Given the description of an element on the screen output the (x, y) to click on. 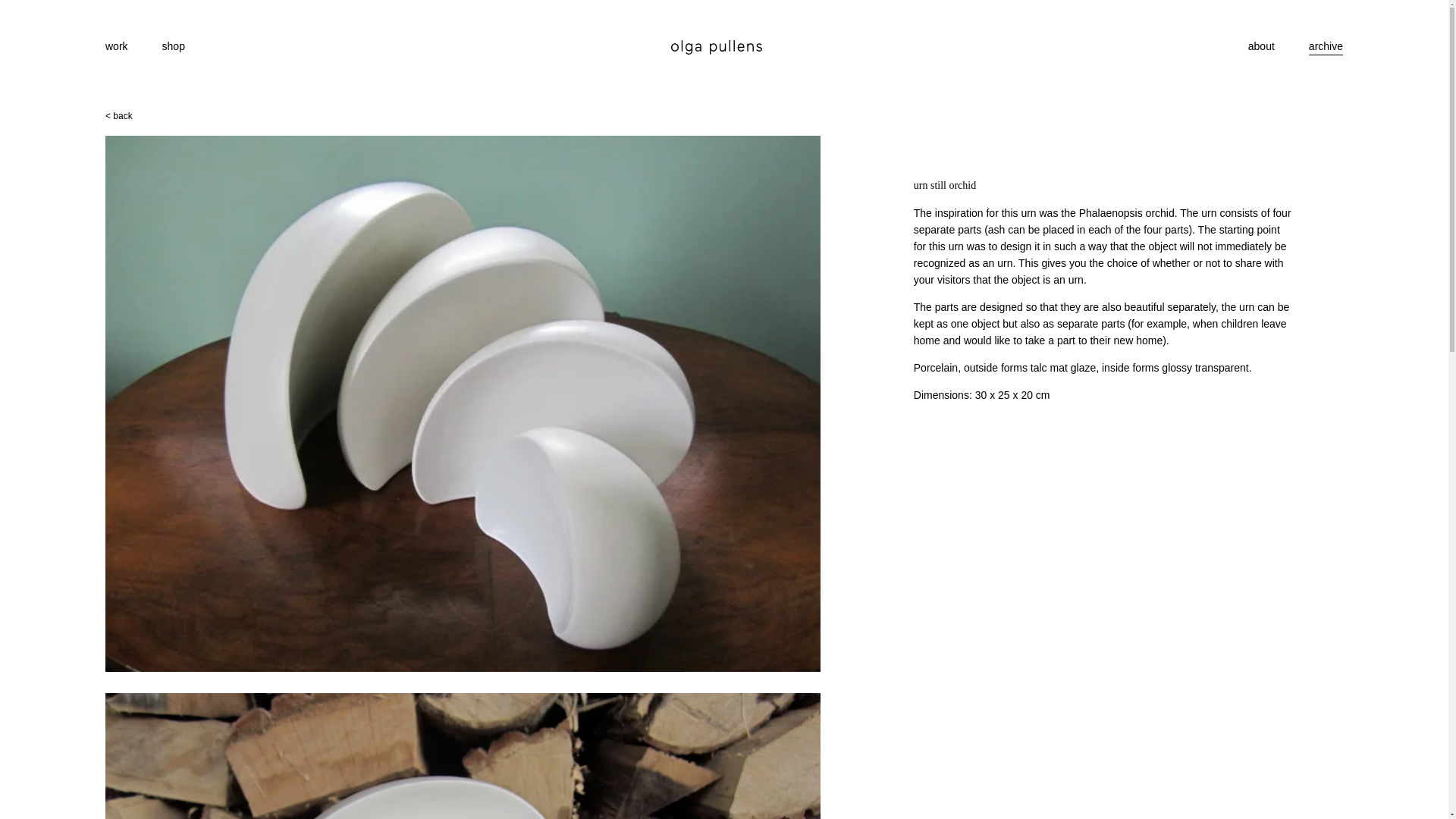
Shop (172, 45)
Archive (1325, 45)
archive (1325, 45)
Work (116, 45)
About (1261, 45)
work (116, 45)
shop (172, 45)
about (1261, 45)
